Given the description of an element on the screen output the (x, y) to click on. 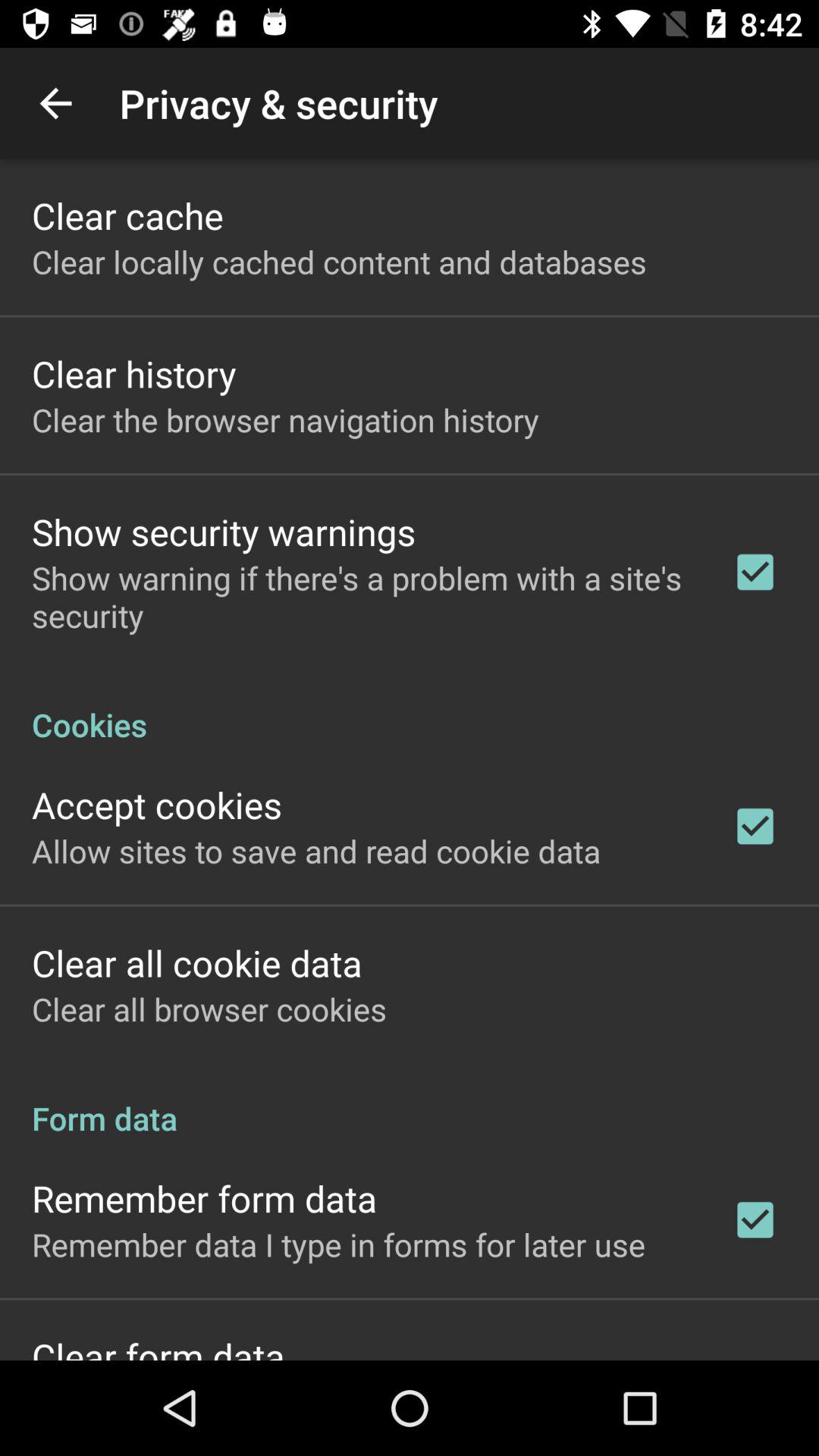
tap the clear locally cached icon (338, 261)
